Given the description of an element on the screen output the (x, y) to click on. 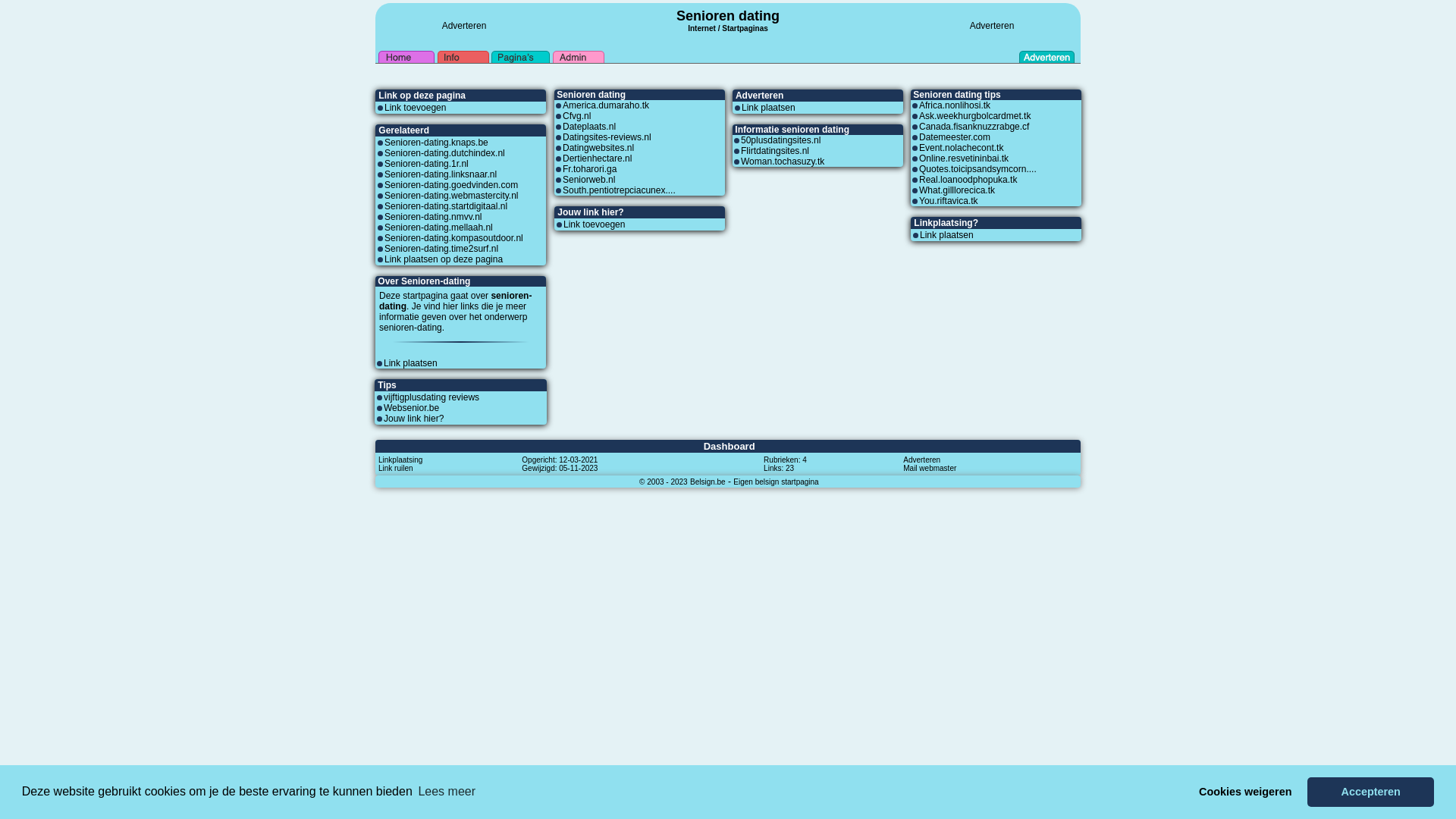
Adverteren Element type: text (921, 459)
America.dumaraho.tk Element type: text (605, 105)
You.riftavica.tk Element type: text (948, 200)
Cfvg.nl Element type: text (576, 115)
South.pentiotrepciacunex.... Element type: text (618, 190)
Cookies weigeren Element type: text (1245, 791)
Senioren dating Element type: text (727, 15)
Africa.nonlihosi.tk Element type: text (954, 105)
Senioren-dating.mellaah.nl Element type: text (438, 227)
Flirtdatingsites.nl Element type: text (774, 150)
Fr.toharori.ga Element type: text (589, 168)
Adverteren Element type: text (991, 25)
Lees meer Element type: text (446, 791)
Online.resvetininbai.tk Element type: text (963, 158)
Websenior.be Element type: text (411, 407)
Mail webmaster Element type: text (929, 467)
Event.nolachecont.tk Element type: text (961, 147)
Accepteren Element type: text (1370, 791)
Senioren-dating.nmvv.nl Element type: text (433, 216)
Dertienhectare.nl Element type: text (596, 158)
50plusdatingsites.nl Element type: text (780, 139)
Ask.weekhurgbolcardmet.tk Element type: text (974, 115)
Adverteren Element type: text (464, 25)
Senioren-dating.goedvinden.com Element type: text (450, 184)
Link ruilen Element type: text (395, 467)
Link plaatsen Element type: text (946, 234)
Linkplaatsing Element type: text (400, 459)
vijftigplusdating reviews Element type: text (431, 397)
Senioren-dating.linksnaar.nl Element type: text (440, 174)
Link toevoegen Element type: text (414, 107)
Canada.fisanknuzzrabge.cf Element type: text (974, 126)
Senioren-dating.knaps.be Element type: text (436, 142)
Link plaatsen op deze pagina Element type: text (443, 259)
Real.loanoodphopuka.tk Element type: text (967, 179)
Senioren-dating.webmastercity.nl Element type: text (451, 195)
Link toevoegen Element type: text (593, 224)
Dateplaats.nl Element type: text (588, 126)
Seniorweb.nl Element type: text (588, 179)
Datingsites-reviews.nl Element type: text (606, 136)
Senioren-dating.dutchindex.nl Element type: text (444, 152)
Startpaginas Element type: text (744, 28)
Senioren-dating.1r.nl Element type: text (426, 163)
Internet Element type: text (701, 26)
Datemeester.com Element type: text (954, 136)
Quotes.toicipsandsymcorn.... Element type: text (977, 168)
Datingwebsites.nl Element type: text (597, 147)
Senioren-dating.kompasoutdoor.nl Element type: text (453, 237)
Link plaatsen Element type: text (410, 362)
Link plaatsen Element type: text (768, 107)
Jouw link hier? Element type: text (413, 418)
Senioren-dating.time2surf.nl Element type: text (441, 248)
Woman.tochasuzy.tk Element type: text (782, 161)
Eigen belsign startpagina Element type: text (775, 481)
Belsign.be Element type: text (707, 481)
What.gilllorecica.tk Element type: text (956, 190)
Senioren-dating.startdigitaal.nl Element type: text (445, 205)
